Given the description of an element on the screen output the (x, y) to click on. 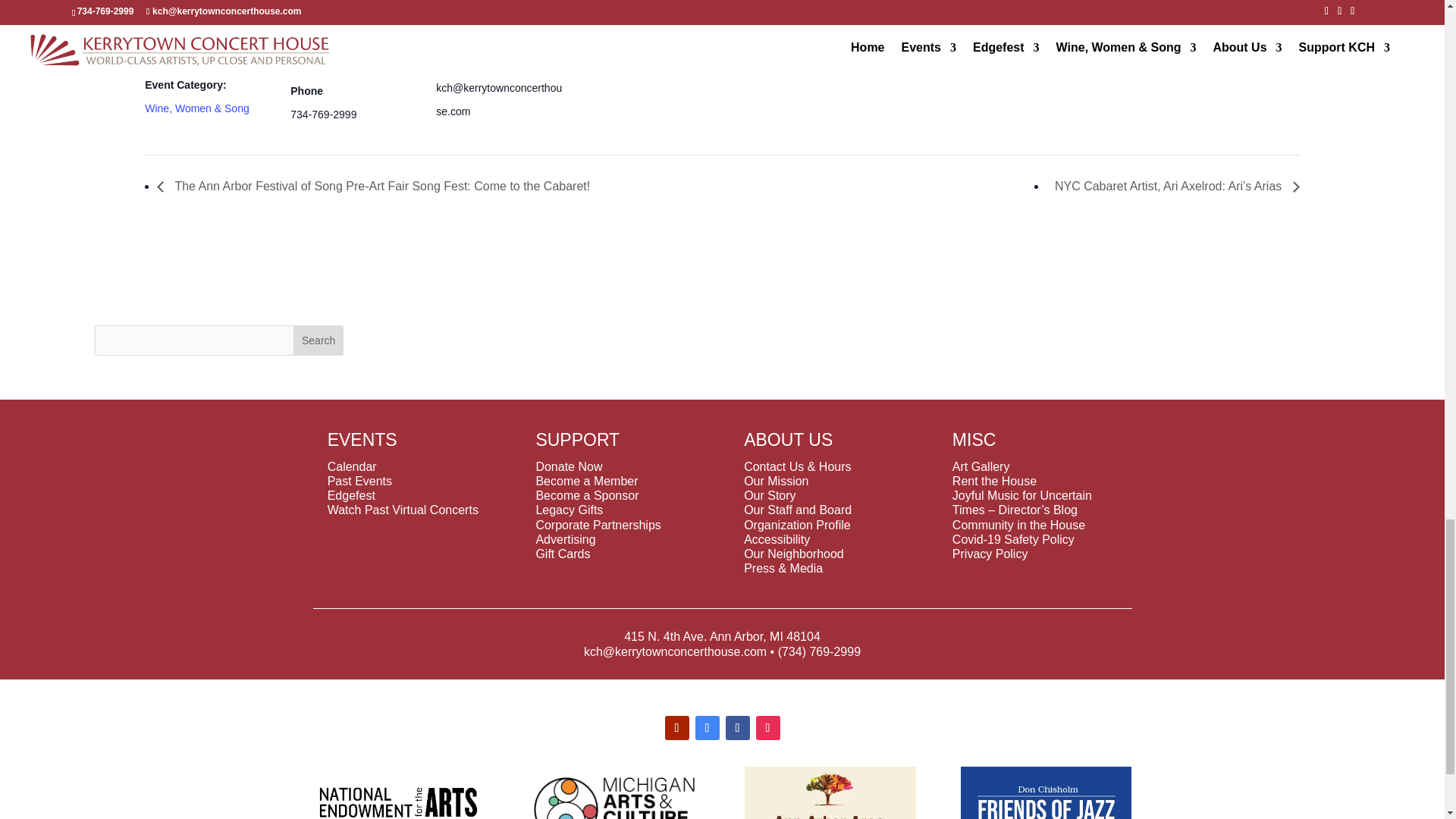
Donate Now (568, 466)
Become a Member (586, 481)
Legacy Gifts (568, 509)
Past Events (359, 481)
Corporate Partnerships (598, 524)
Click to view a Google Map (344, 50)
Calendar (352, 466)
Michigan (349, 21)
Become a Sponsor (587, 495)
Advertising (565, 539)
